Given the description of an element on the screen output the (x, y) to click on. 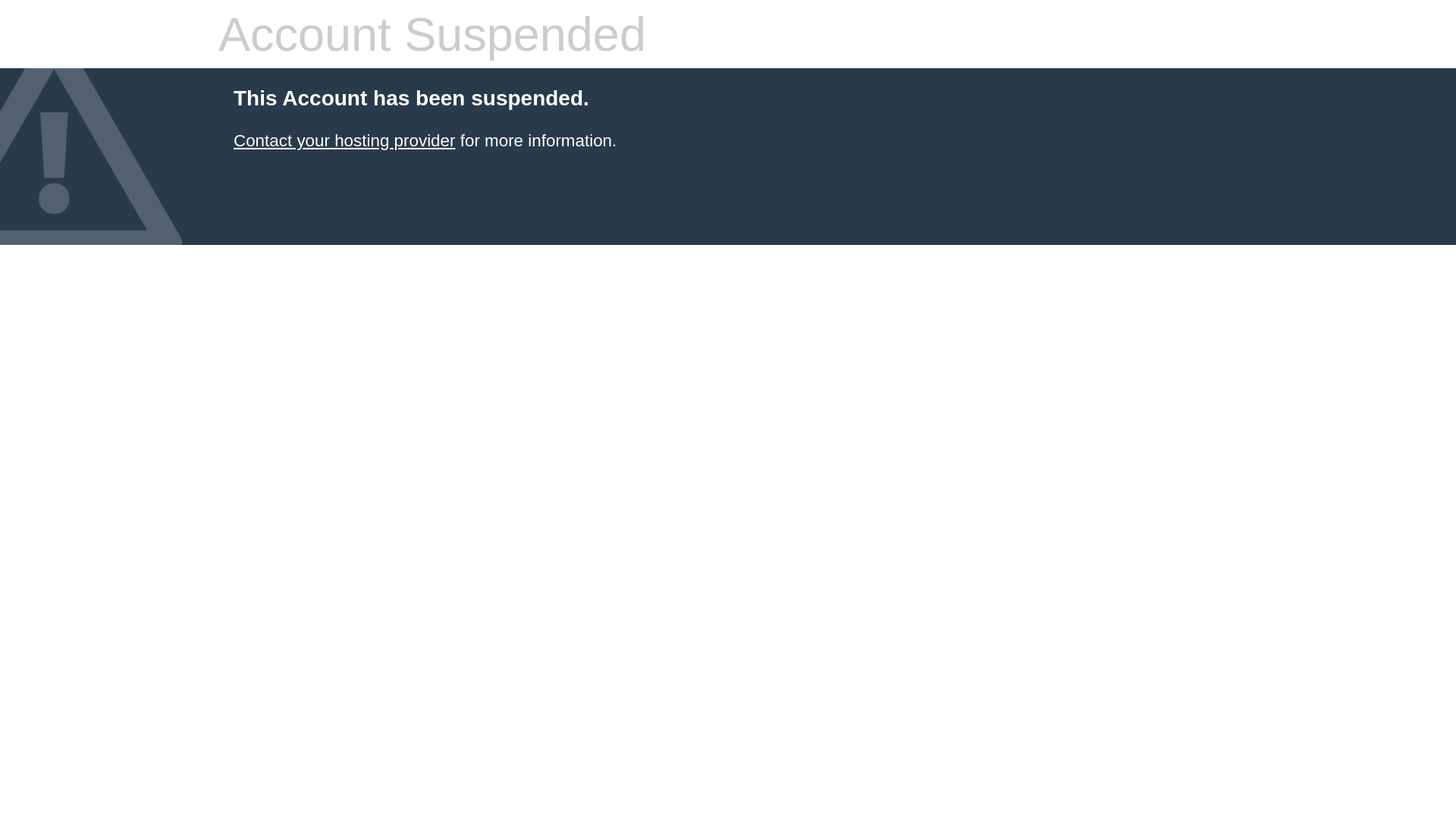
Contact your hosting provider Element type: text (344, 140)
